Given the description of an element on the screen output the (x, y) to click on. 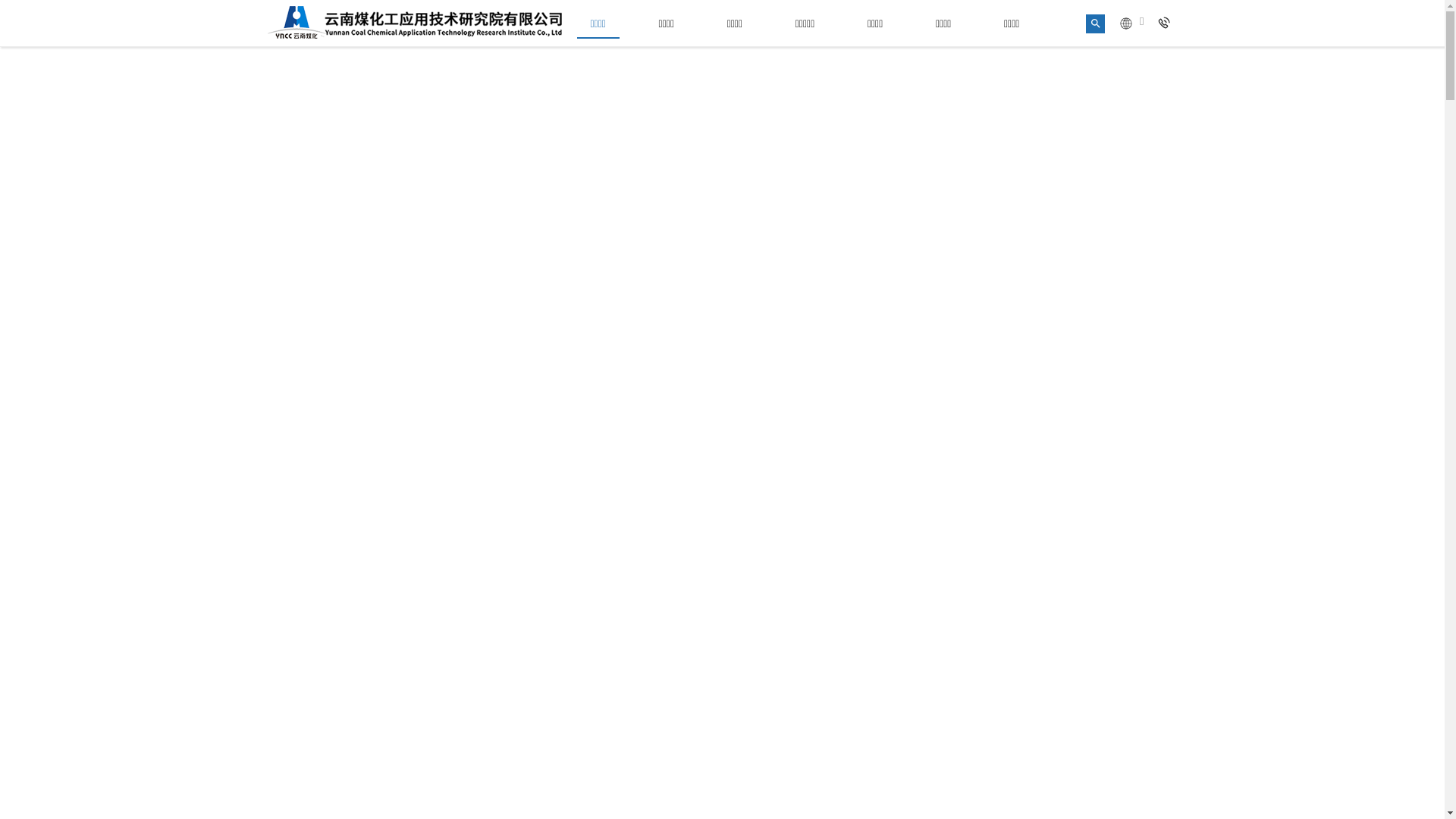
  Element type: text (1166, 23)
